Given the description of an element on the screen output the (x, y) to click on. 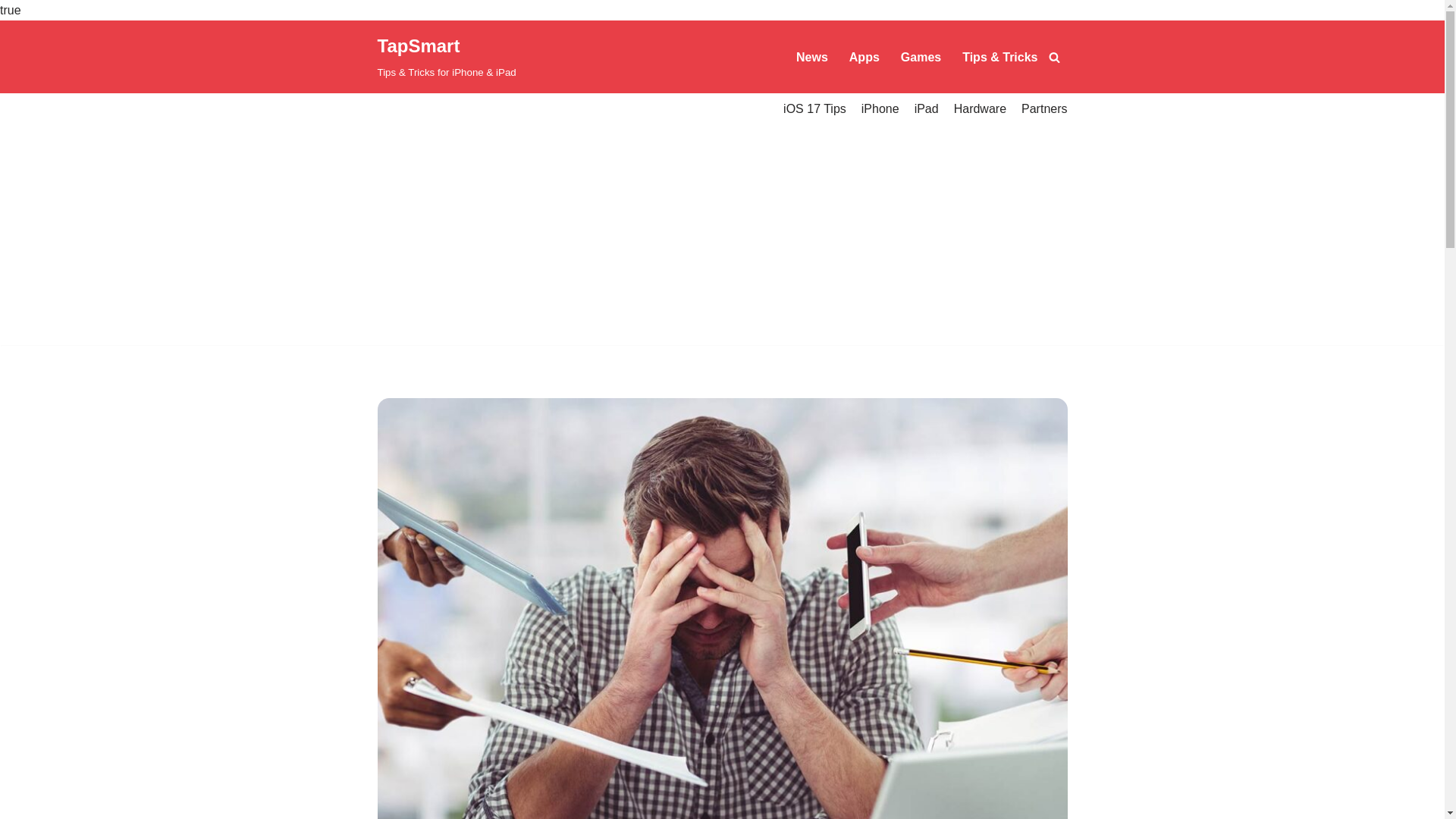
iPhone (880, 108)
iPad (926, 108)
Partners (1044, 108)
TapSmart (446, 56)
Games (920, 56)
Skip to content (11, 52)
Apps (863, 56)
News (812, 56)
Hardware (979, 108)
iOS 17 Tips (814, 108)
